Given the description of an element on the screen output the (x, y) to click on. 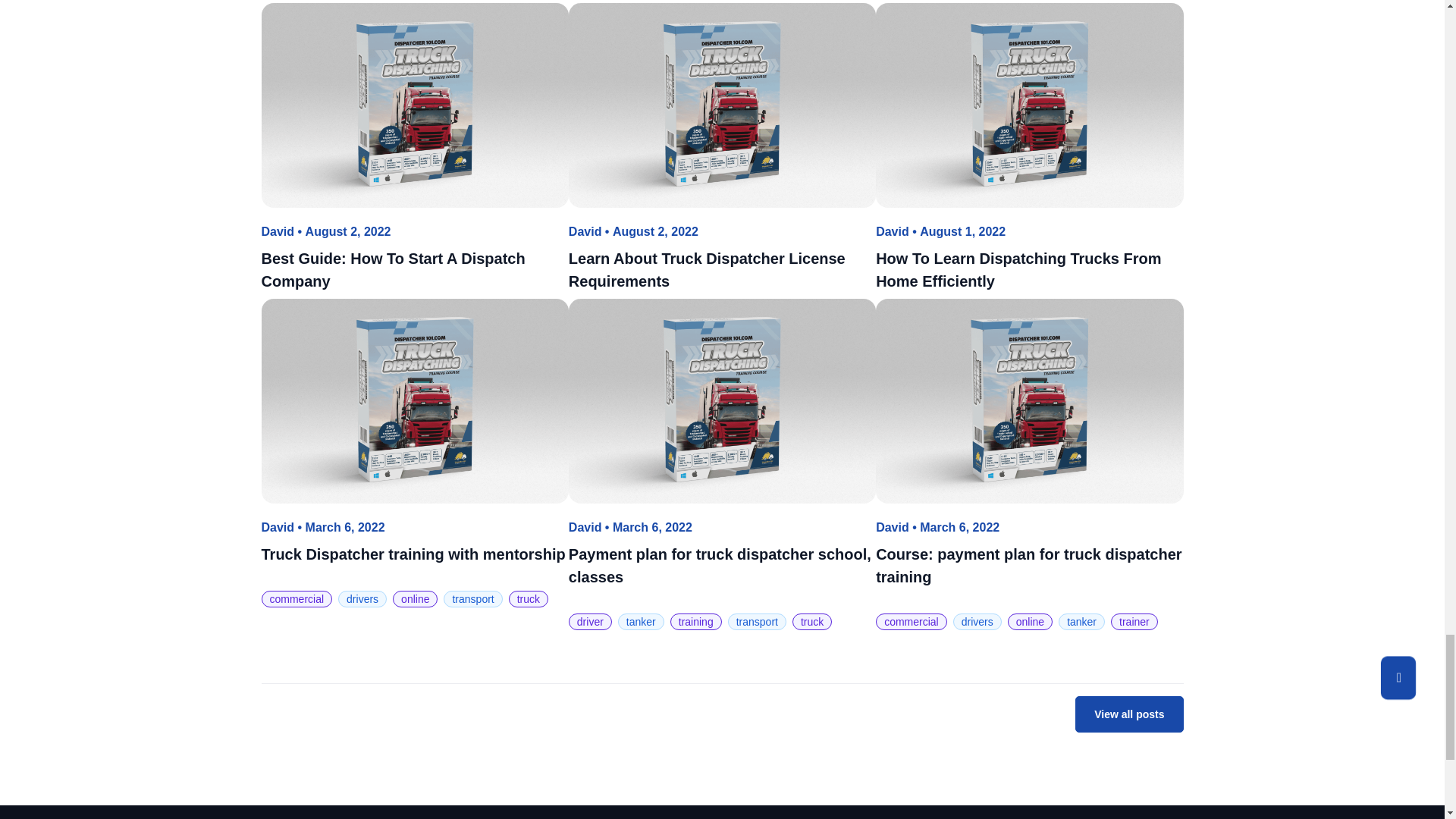
Learn About Truck Dispatcher License Requirements (707, 269)
5852abbff89b8f98a02ec2f200054d73 (1029, 105)
5852abbff89b8f98a02ec2f200054d73 (413, 105)
Best Guide: How To Start A Dispatch Company (392, 269)
5852abbff89b8f98a02ec2f200054d73 (413, 400)
5852abbff89b8f98a02ec2f200054d73 (1029, 400)
5852abbff89b8f98a02ec2f200054d73 (722, 105)
5852abbff89b8f98a02ec2f200054d73 (722, 400)
